Given the description of an element on the screen output the (x, y) to click on. 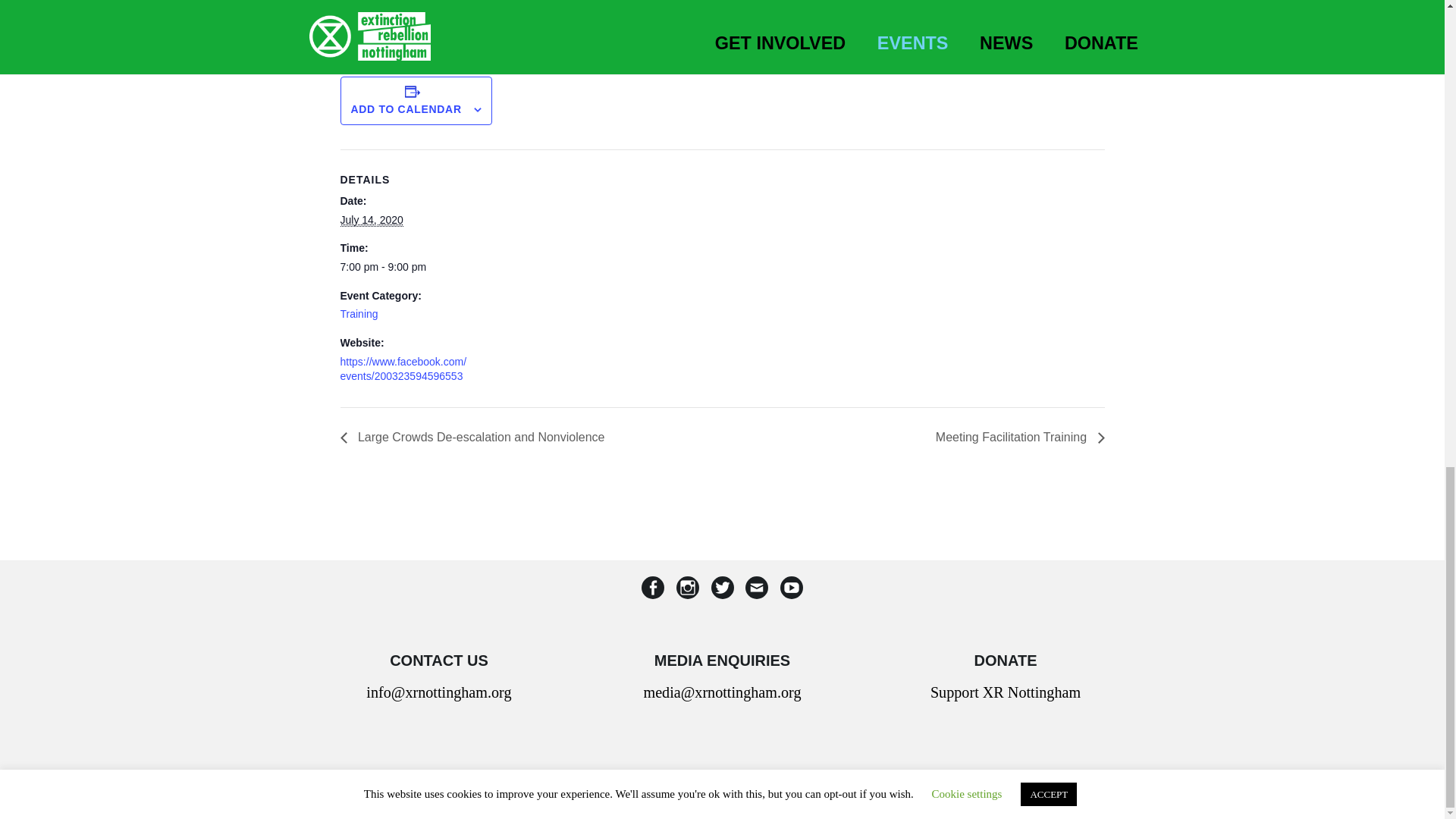
Instagram (687, 589)
Facebook (652, 589)
2020-07-14 (403, 267)
2020-07-14 (371, 219)
PRIVACY POLICY (842, 795)
ADD TO CALENDAR (405, 109)
Large Crowds De-escalation and Nonviolence (475, 436)
Twitter (721, 589)
YouTube (791, 589)
Meeting Facilitation Training (1016, 436)
Support XR Nottingham (1005, 692)
Training Feedback (463, 3)
letter (756, 589)
Training (358, 313)
